Given the description of an element on the screen output the (x, y) to click on. 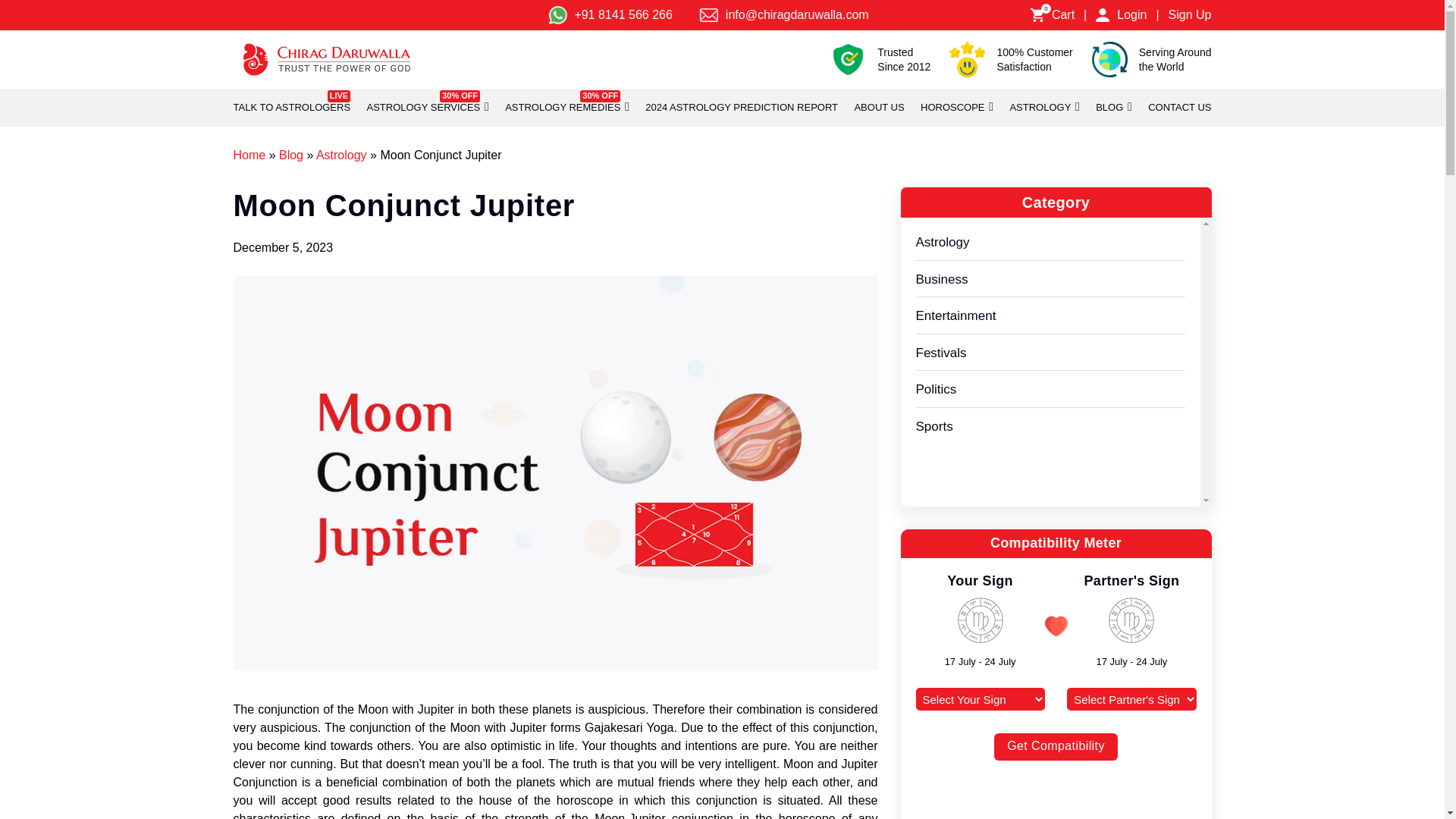
ABOUT US (878, 107)
Login (1131, 14)
HOROSCOPE (952, 107)
Cart (1062, 14)
Cart (1036, 15)
Sign Up (1190, 14)
WhatsApp (557, 14)
Email (708, 15)
login (1102, 15)
2024 ASTROLOGY PREDICTION REPORT (741, 107)
